Given the description of an element on the screen output the (x, y) to click on. 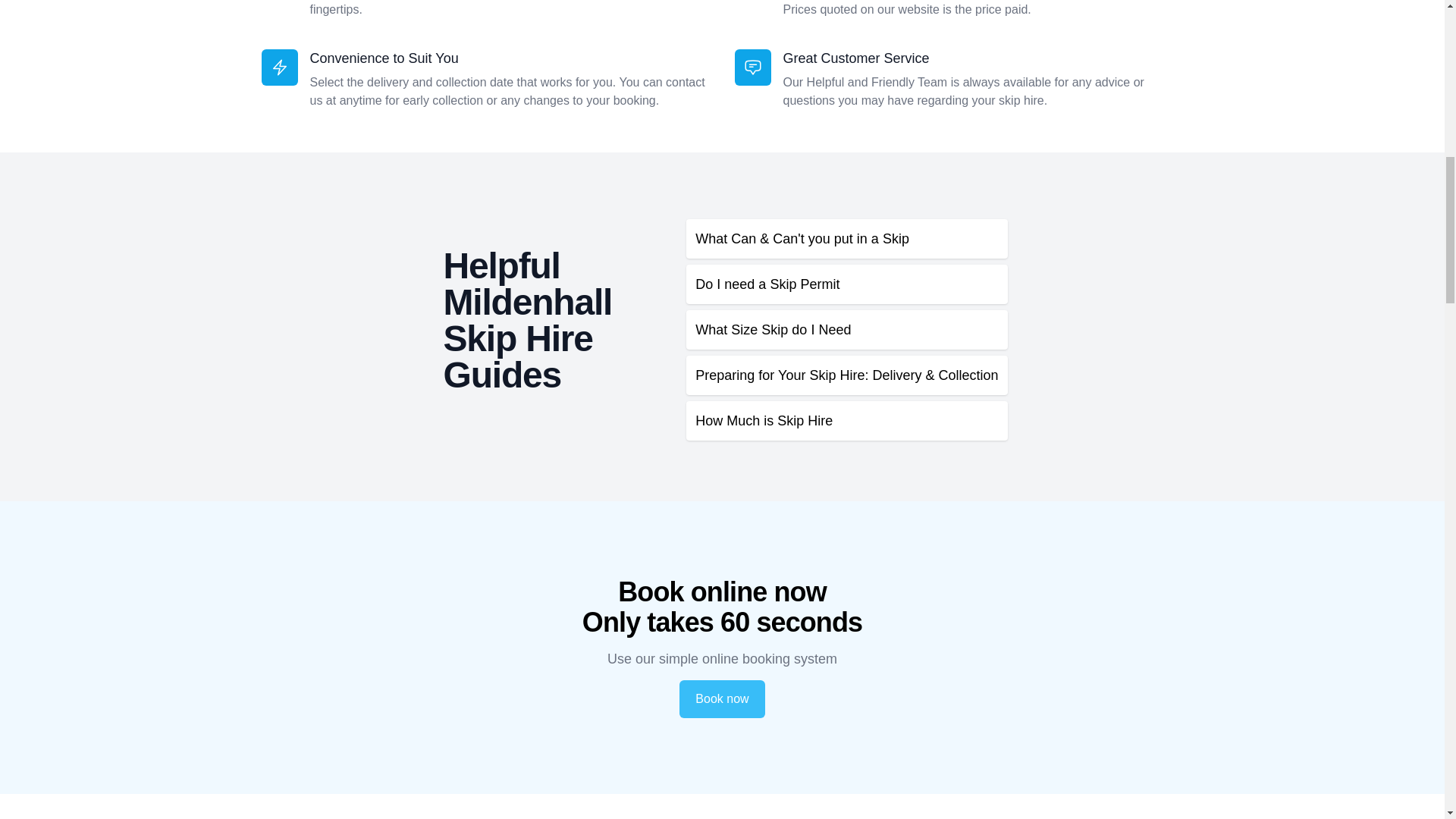
Do I need a Skip Permit (846, 283)
What Size Skip do I Need (846, 329)
Book now (721, 699)
How Much is Skip Hire (846, 420)
